Given the description of an element on the screen output the (x, y) to click on. 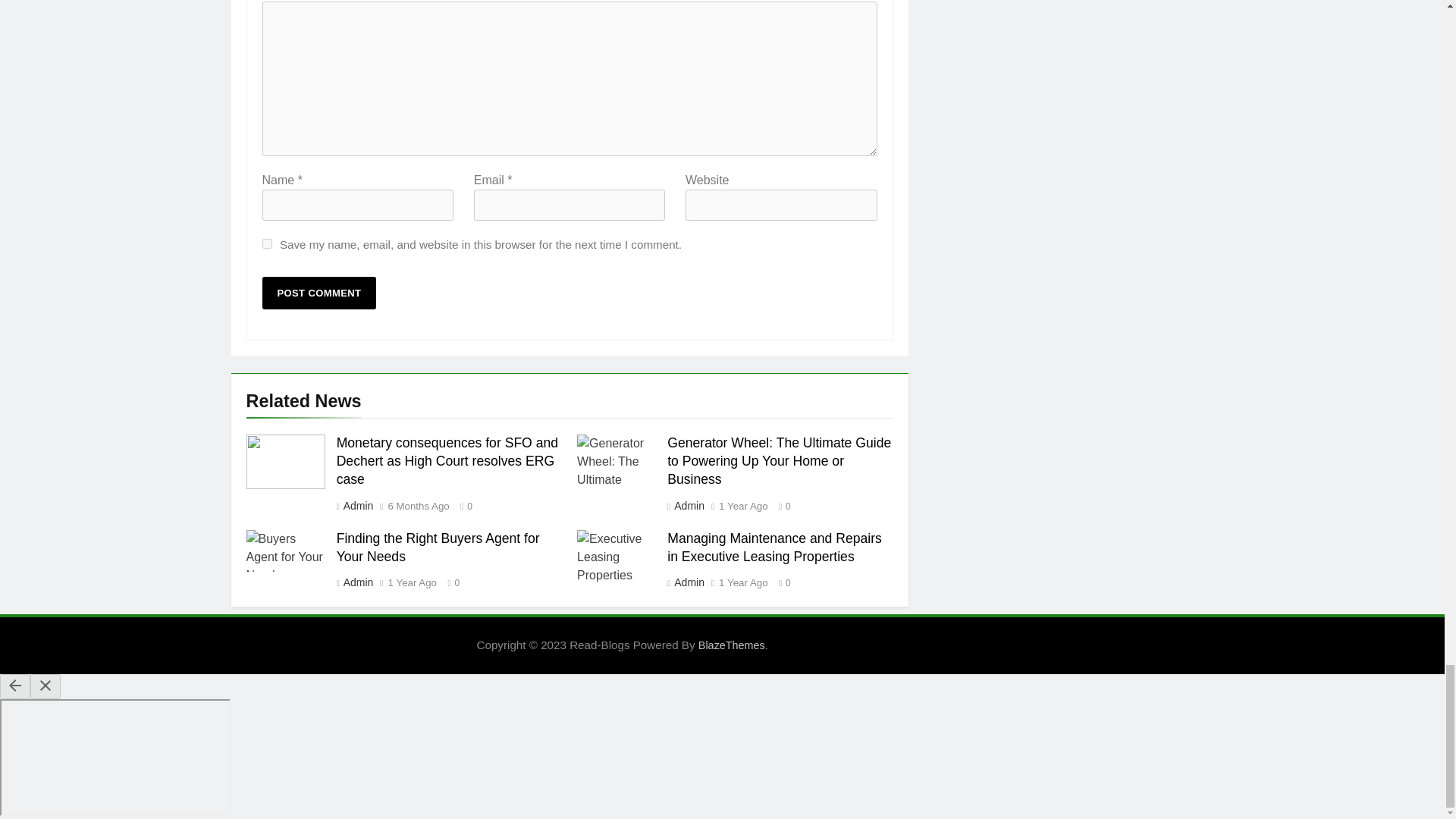
yes (267, 243)
Post Comment (319, 292)
